Given the description of an element on the screen output the (x, y) to click on. 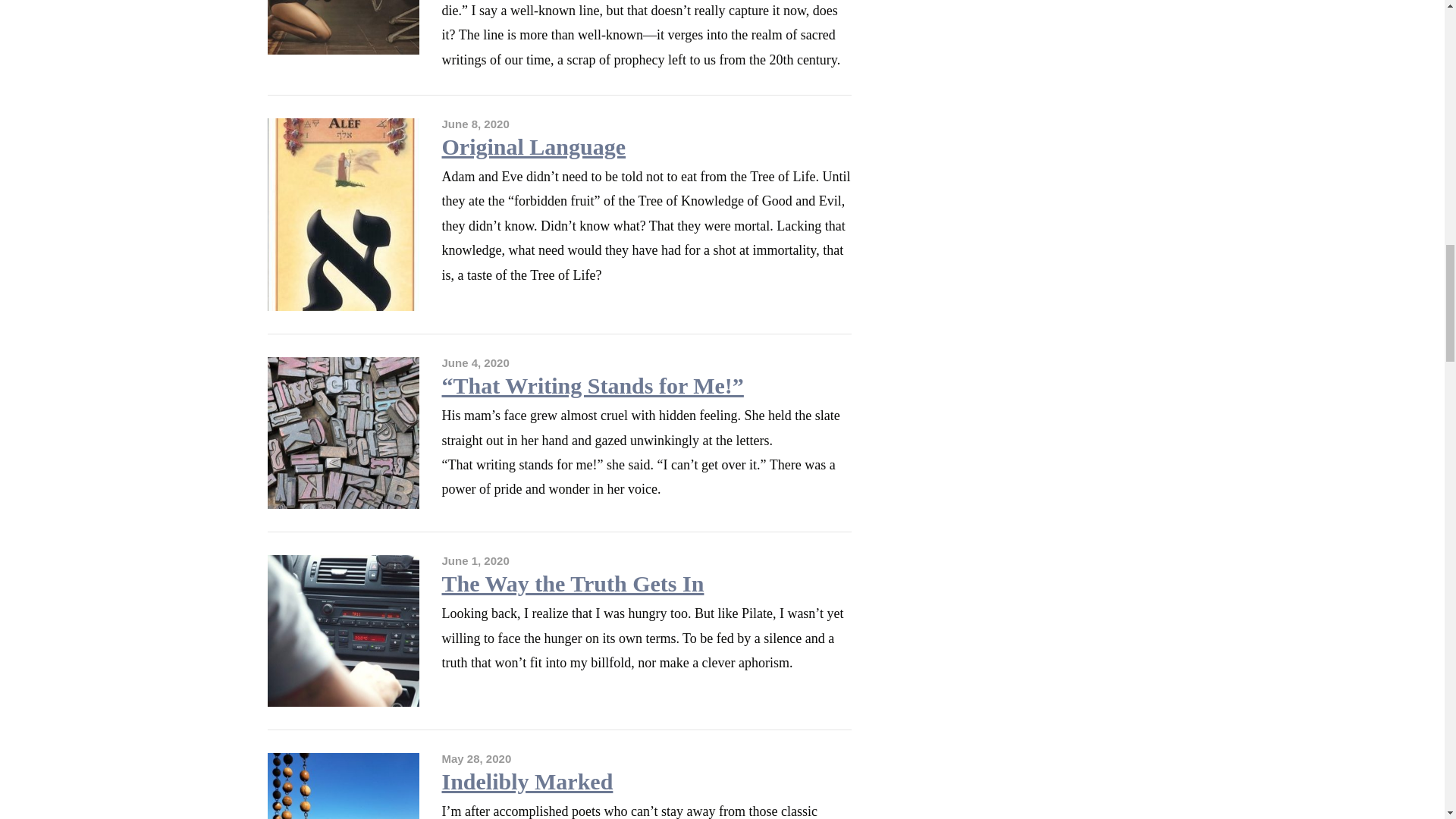
Original Language (533, 146)
Indelibly Marked (526, 781)
The Way the Truth Gets In (572, 583)
